Given the description of an element on the screen output the (x, y) to click on. 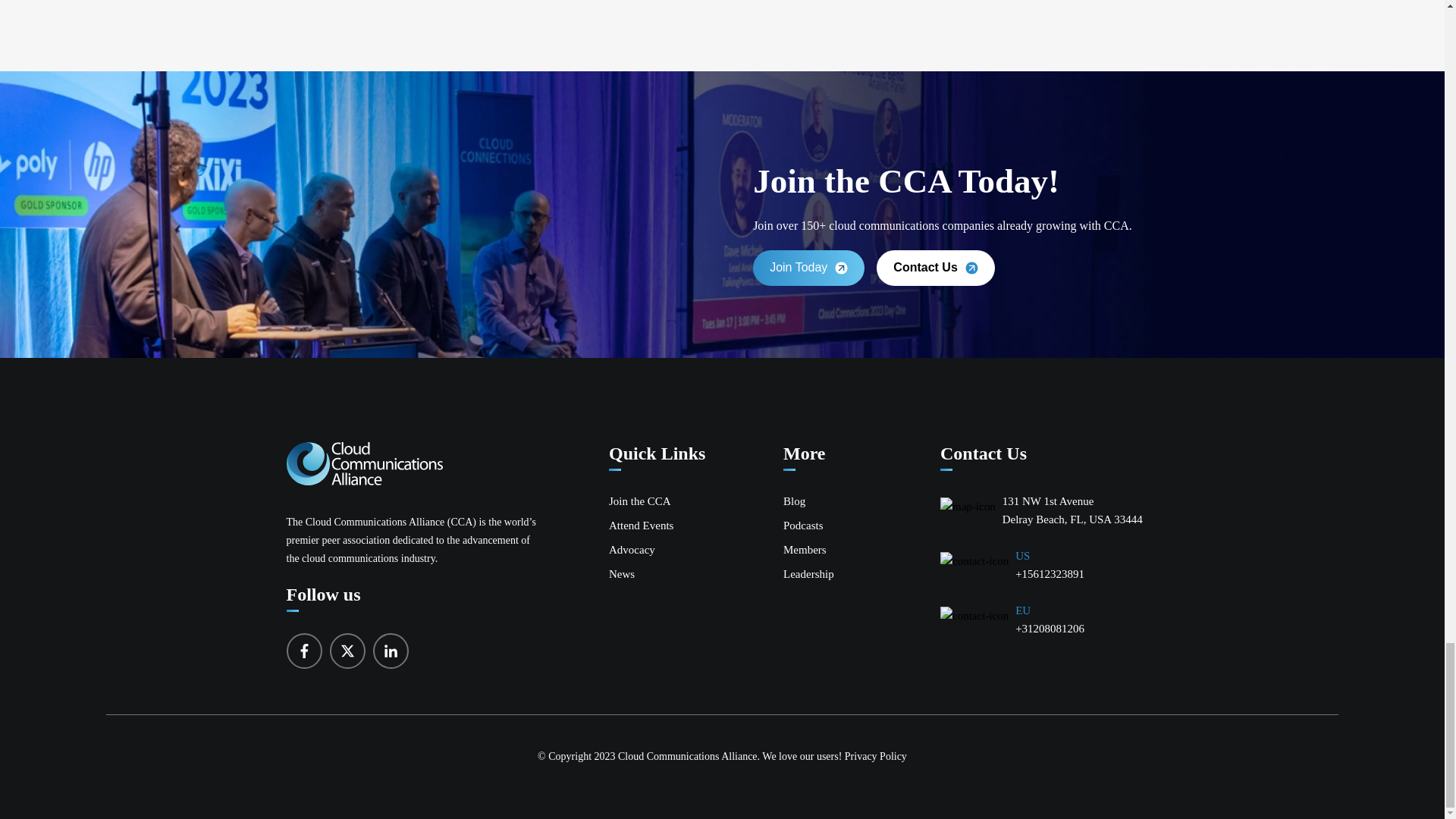
Attend Events (640, 525)
Join Today (808, 267)
Contact Us (935, 267)
ccalogo (364, 463)
Join the CCA (639, 500)
